Given the description of an element on the screen output the (x, y) to click on. 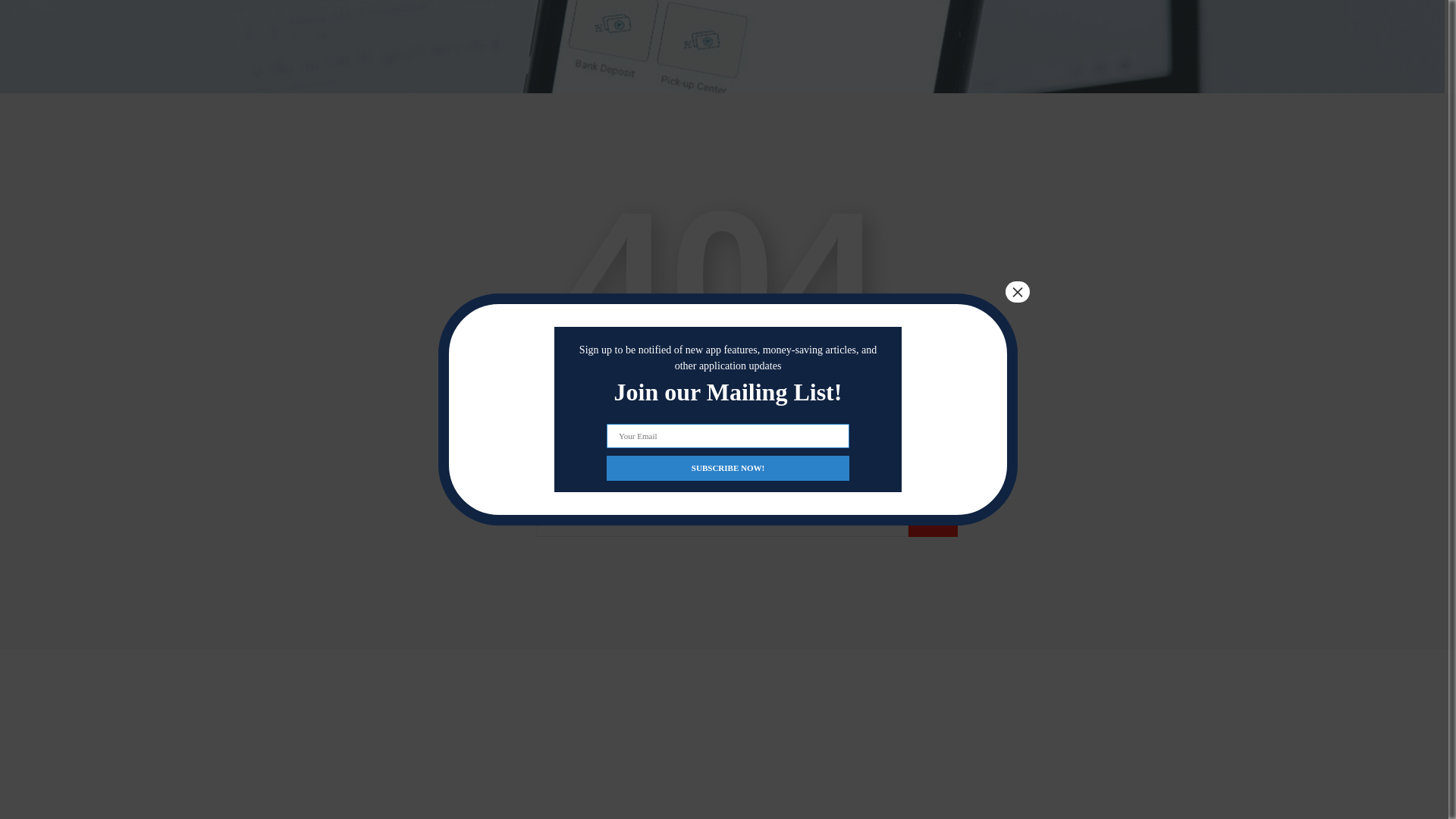
SUBSCRIBE NOW! (727, 285)
Search (933, 521)
VISIT HOMEPAGE (722, 422)
Search (933, 521)
SUBSCRIBE NOW! (727, 285)
Search (933, 521)
